Given the description of an element on the screen output the (x, y) to click on. 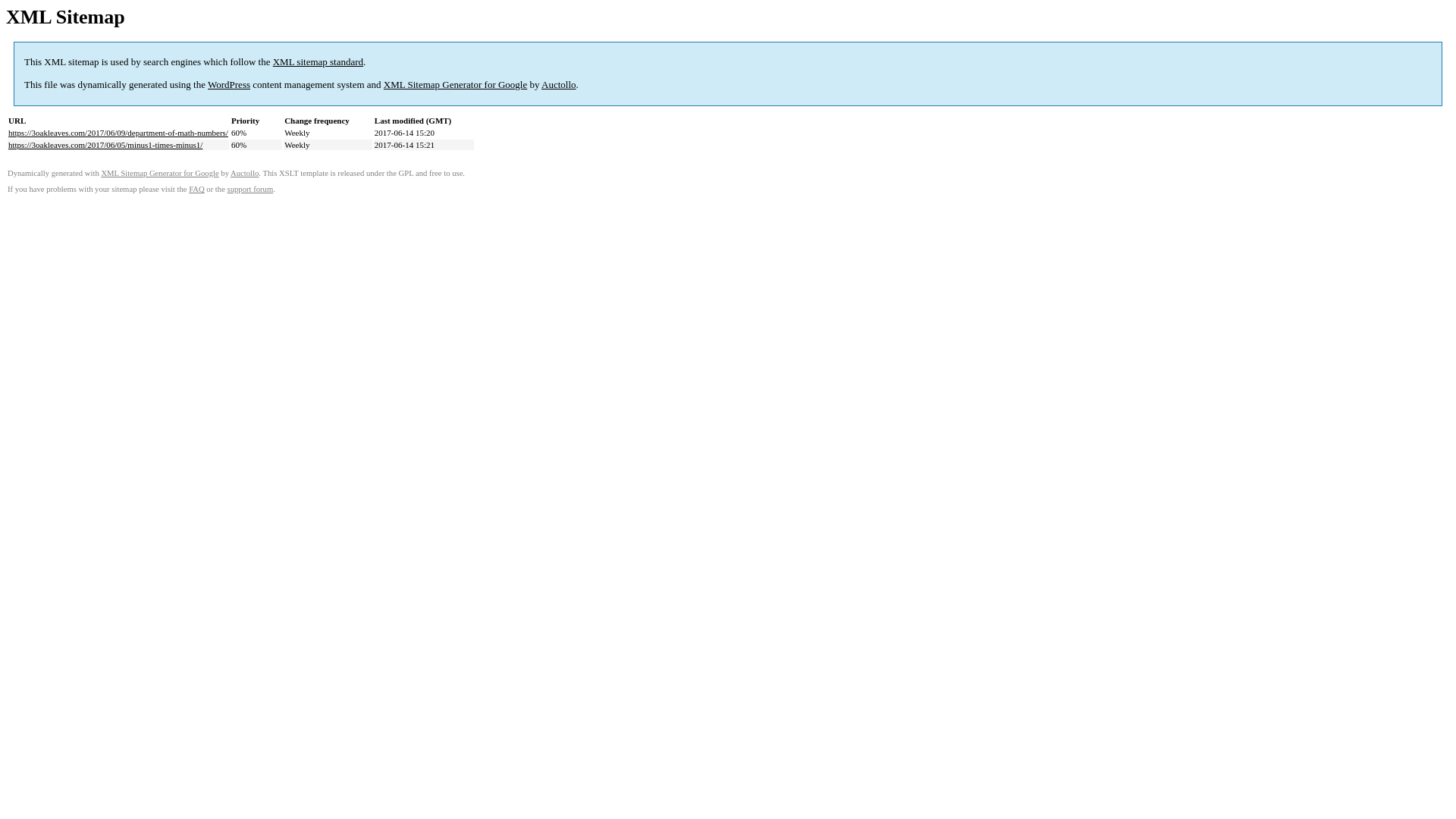
https://3oakleaves.com/2017/06/05/minus1-times-minus1/ Element type: text (105, 144)
support forum Element type: text (250, 189)
WordPress Element type: text (228, 84)
XML Sitemap Generator for Google Element type: text (455, 84)
FAQ Element type: text (196, 189)
XML sitemap standard Element type: text (318, 61)
Auctollo Element type: text (558, 84)
Auctollo Element type: text (244, 173)
XML Sitemap Generator for Google Element type: text (159, 173)
